Given the description of an element on the screen output the (x, y) to click on. 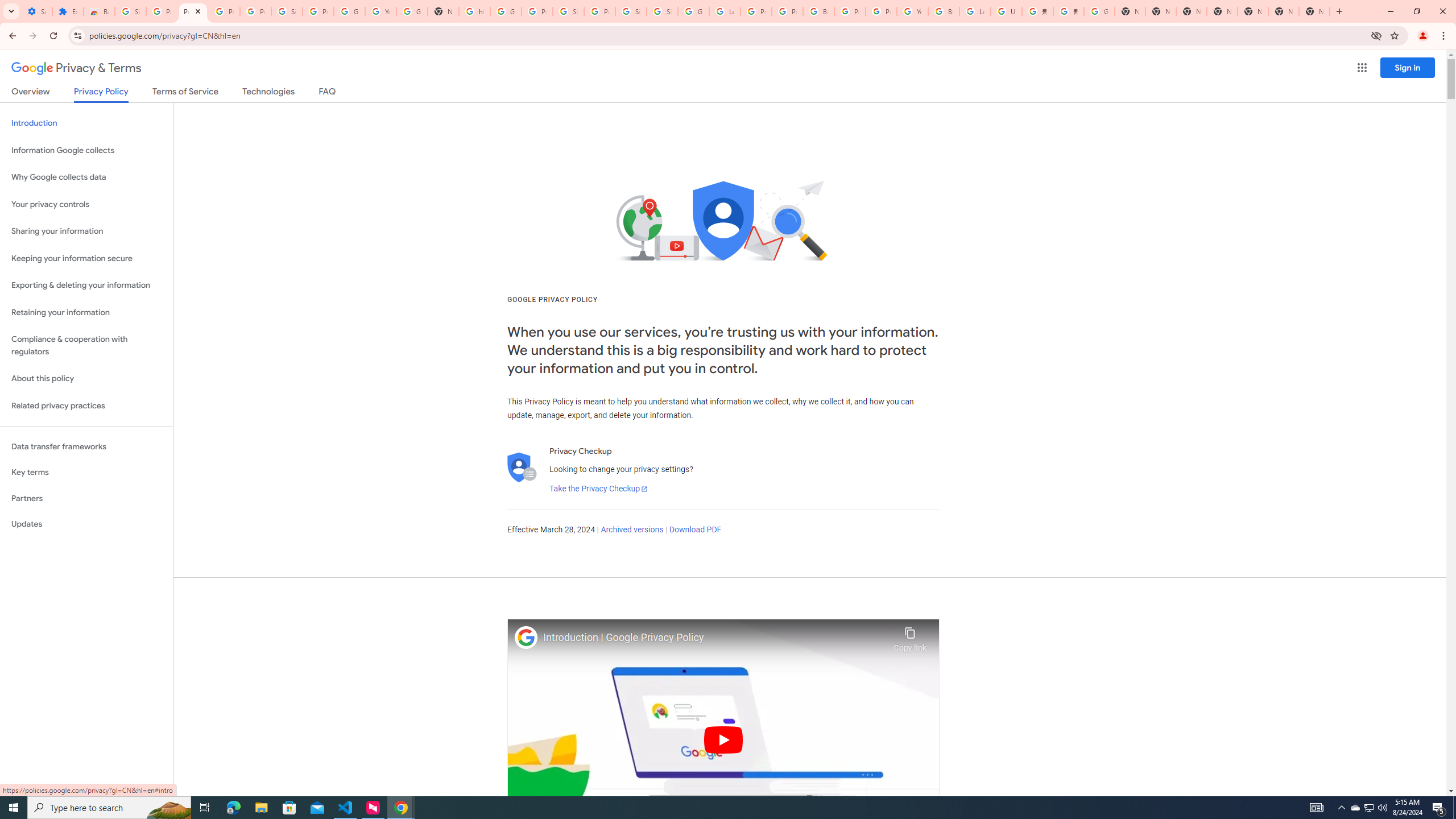
New Tab (1314, 11)
Information Google collects (86, 150)
YouTube (380, 11)
https://scholar.google.com/ (474, 11)
Browse Chrome as a guest - Computer - Google Chrome Help (943, 11)
Related privacy practices (86, 405)
Retaining your information (86, 312)
Data transfer frameworks (86, 446)
New Tab (1222, 11)
